Given the description of an element on the screen output the (x, y) to click on. 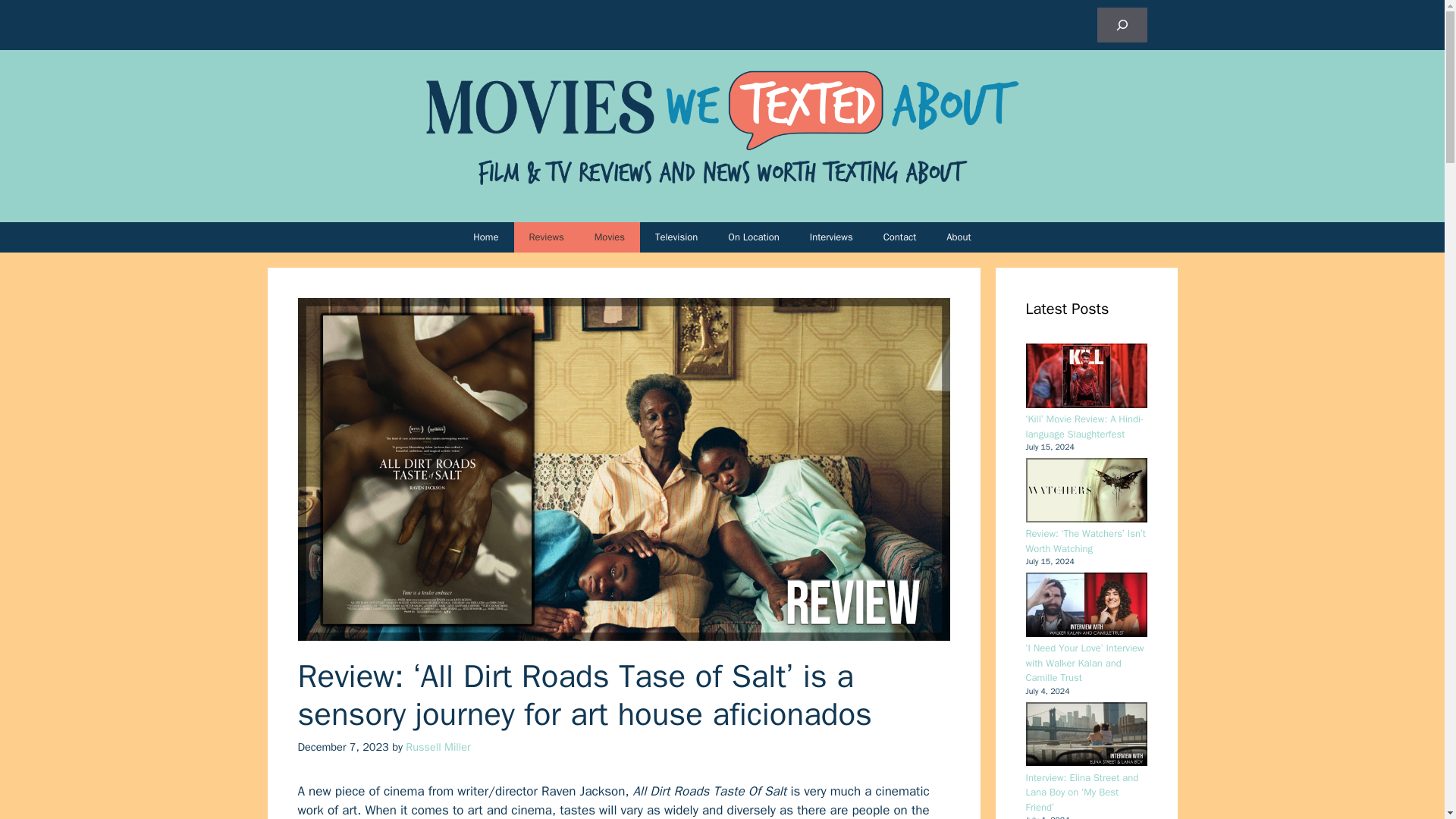
Russell Miller (438, 746)
Contact (899, 236)
About (958, 236)
Home (485, 236)
View all posts by Russell Miller (438, 746)
Television (676, 236)
On Location (753, 236)
Interviews (830, 236)
Reviews (546, 236)
Movies (609, 236)
